Given the description of an element on the screen output the (x, y) to click on. 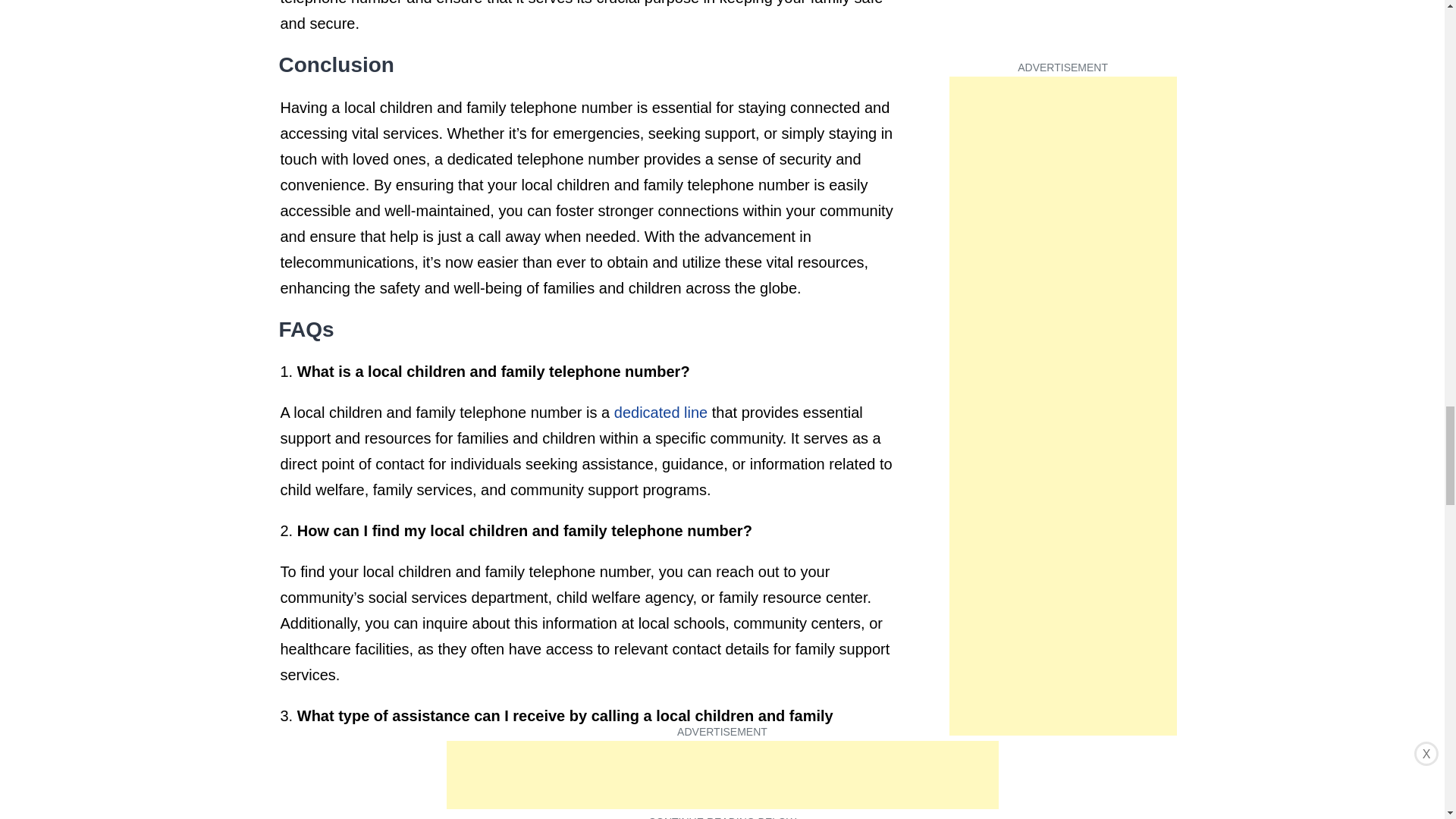
dedicated line (660, 412)
